Given the description of an element on the screen output the (x, y) to click on. 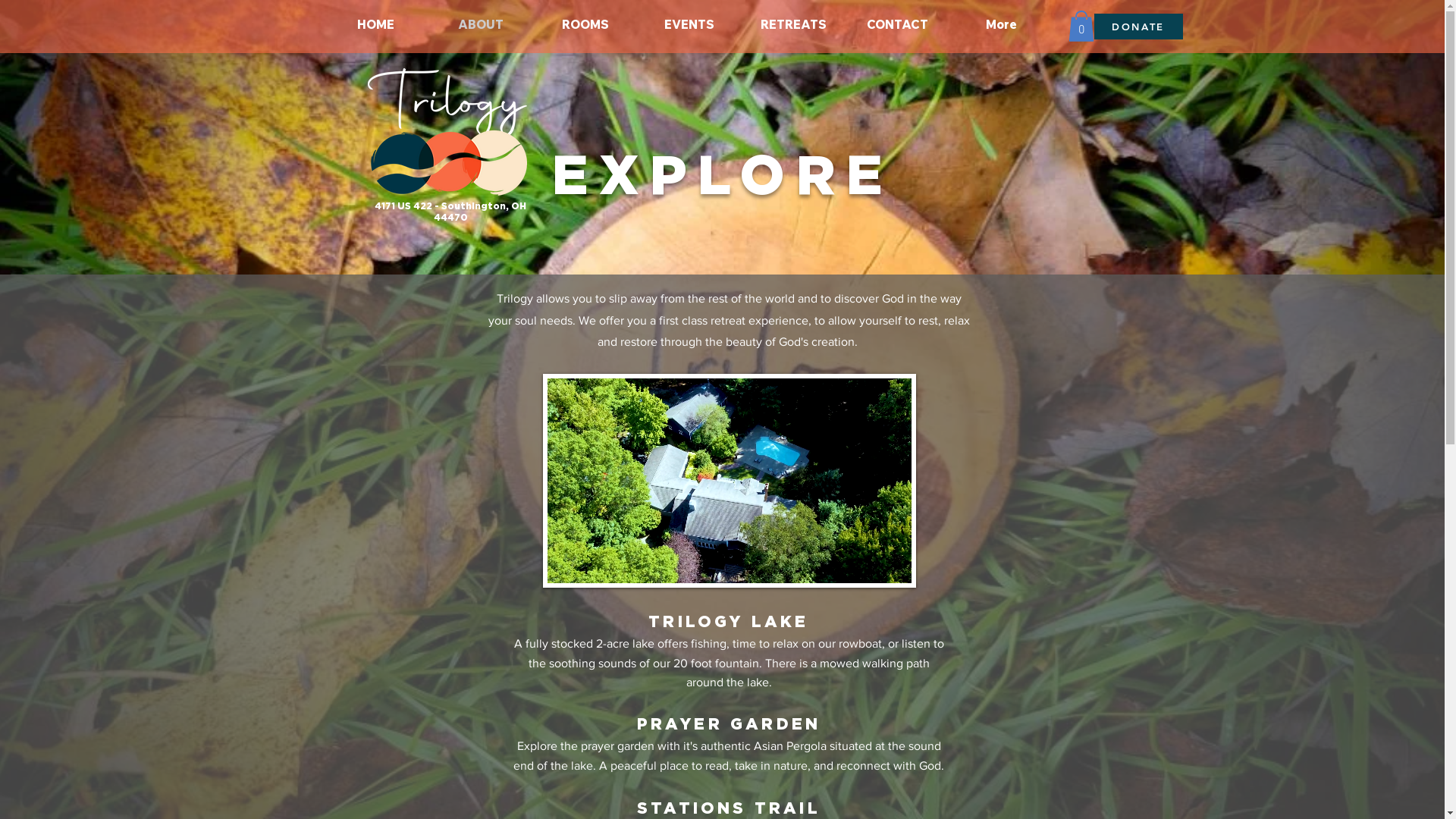
DONATE Element type: text (1137, 26)
HOME Element type: text (375, 24)
EVENTS Element type: text (688, 24)
ABOUT Element type: text (479, 24)
ROOMS Element type: text (584, 24)
0 Element type: text (1080, 25)
RETREATS Element type: text (793, 24)
CONTACT Element type: text (896, 24)
